Given the description of an element on the screen output the (x, y) to click on. 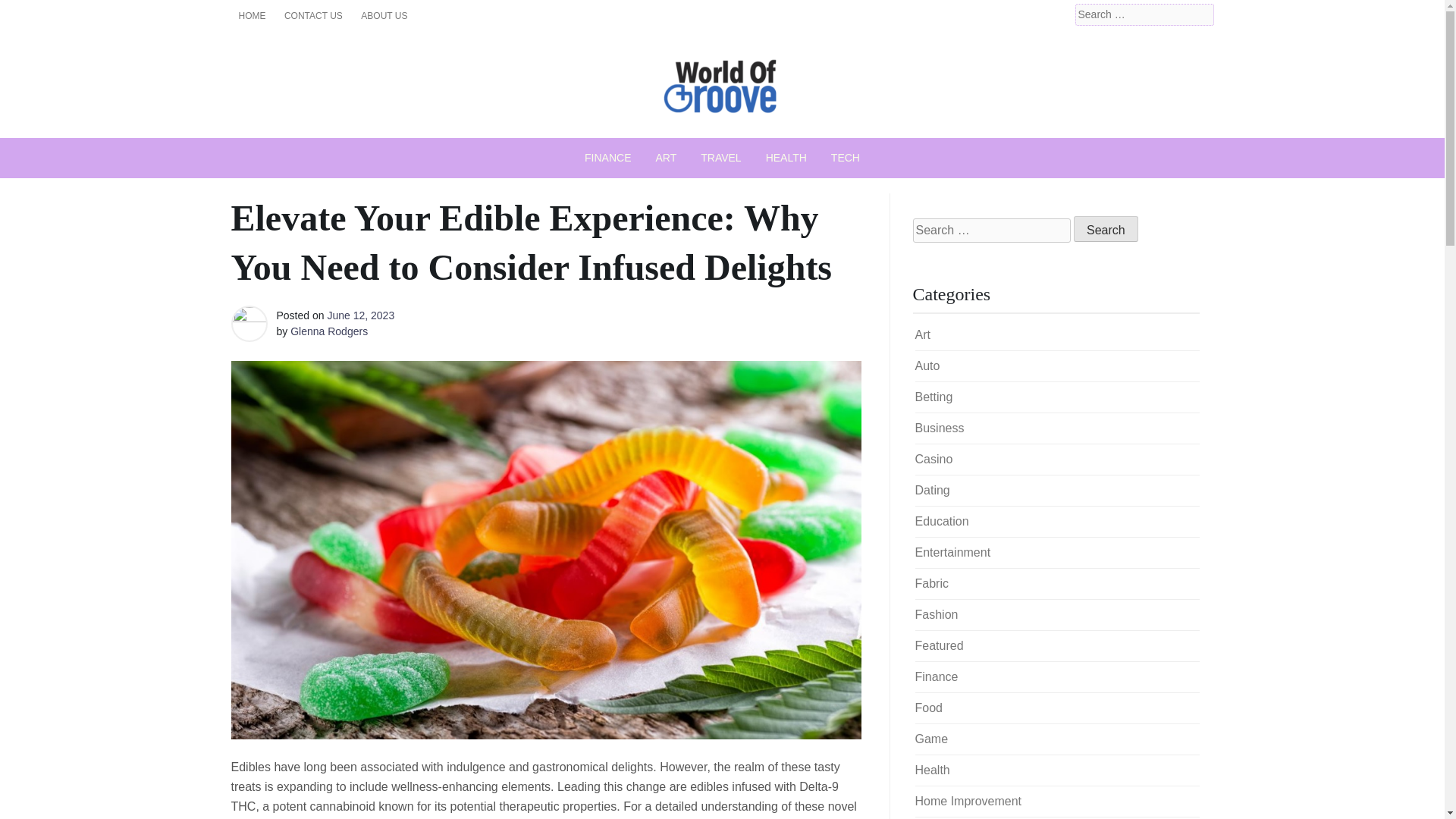
Search (1106, 228)
Glenna Rodgers (328, 331)
TECH (845, 158)
Auto (926, 365)
June 12, 2023 (360, 315)
Business (938, 427)
Education (941, 521)
Search (1106, 228)
FINANCE (607, 158)
Search (32, 12)
Dating (931, 490)
Fashion (936, 614)
Finance (936, 676)
Casino (933, 459)
HEALTH (786, 158)
